Given the description of an element on the screen output the (x, y) to click on. 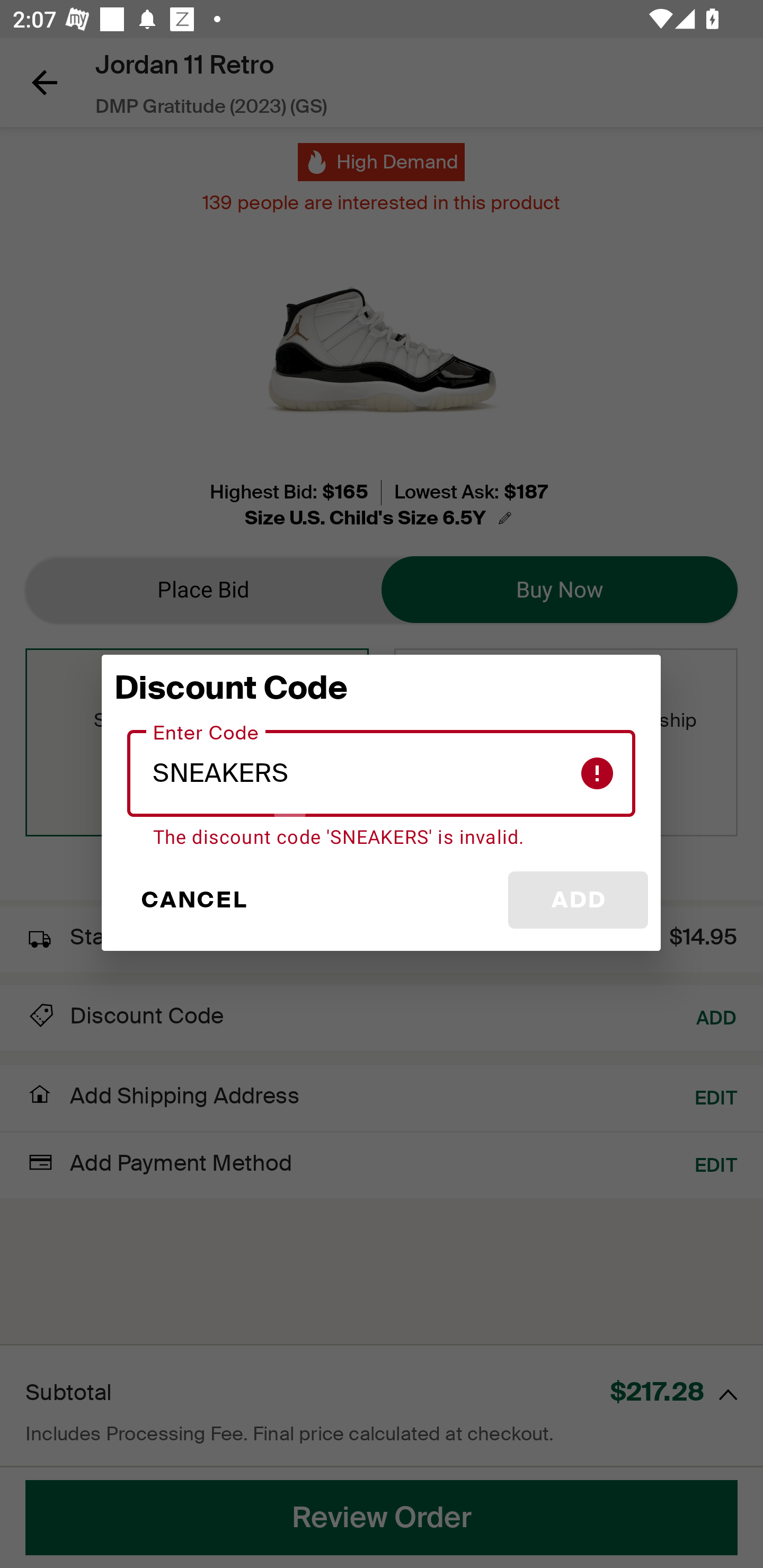
SNEAKERS (381, 773)
CANCEL (193, 899)
ADD (577, 899)
